Given the description of an element on the screen output the (x, y) to click on. 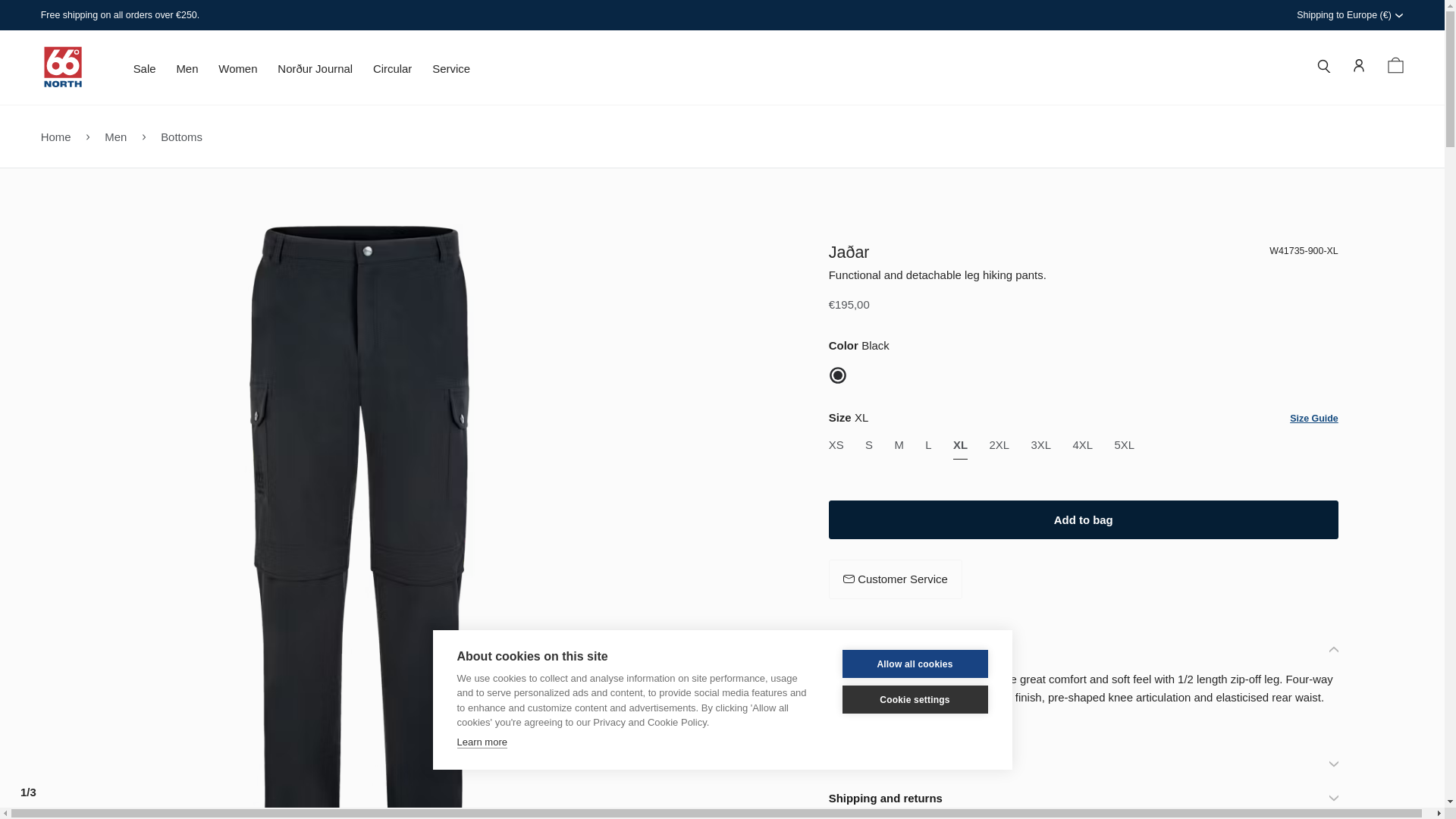
Men (187, 72)
Home (55, 135)
Sale (144, 72)
Service (451, 72)
Men (115, 135)
Circular (392, 72)
Learn more (481, 697)
Women (237, 72)
Allow all cookies (914, 623)
Cookie settings (914, 679)
